Given the description of an element on the screen output the (x, y) to click on. 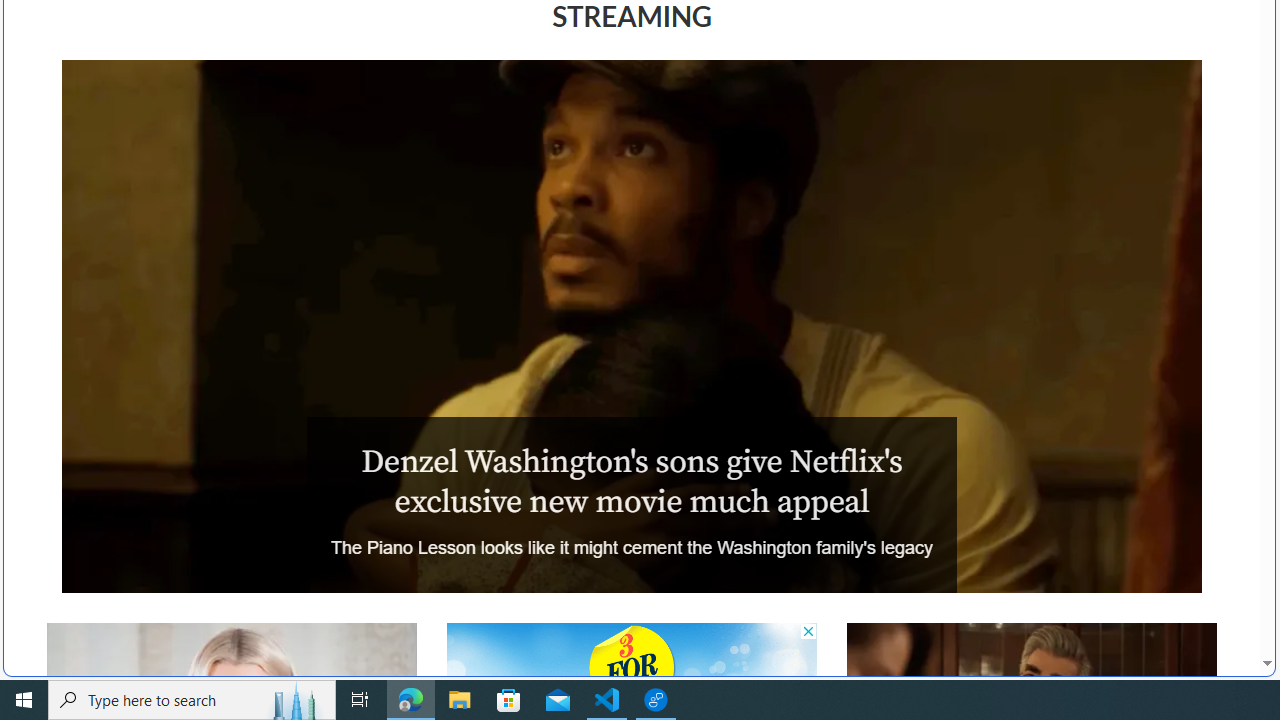
The Piano Lesson (631, 326)
